Given the description of an element on the screen output the (x, y) to click on. 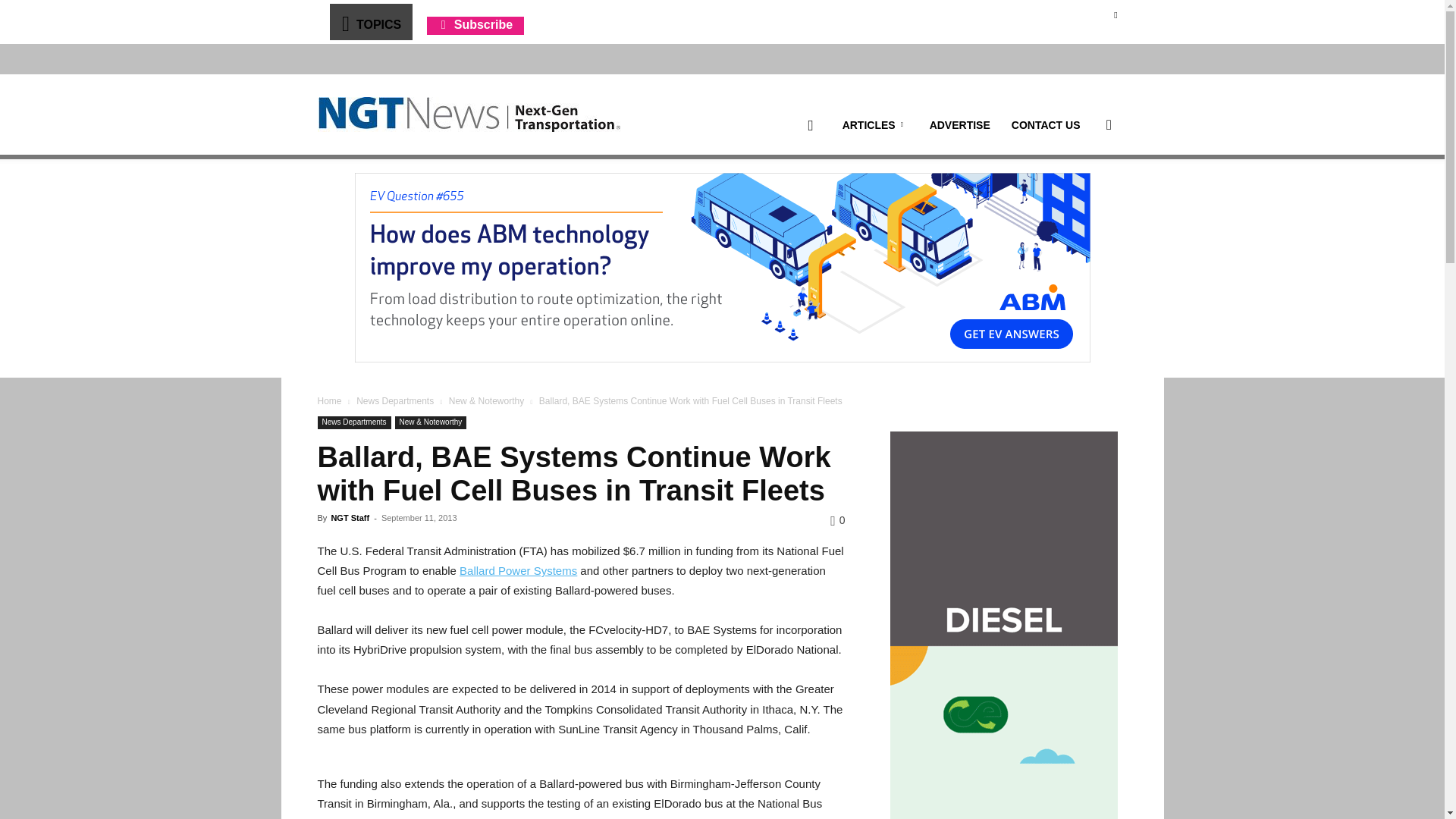
Twitter (1114, 14)
ARTICLES (874, 124)
NGT News (468, 114)
Search (1085, 197)
TOPICS (370, 22)
Alternative Fuel News, CNG News (468, 114)
Subscribe (475, 24)
